Given the description of an element on the screen output the (x, y) to click on. 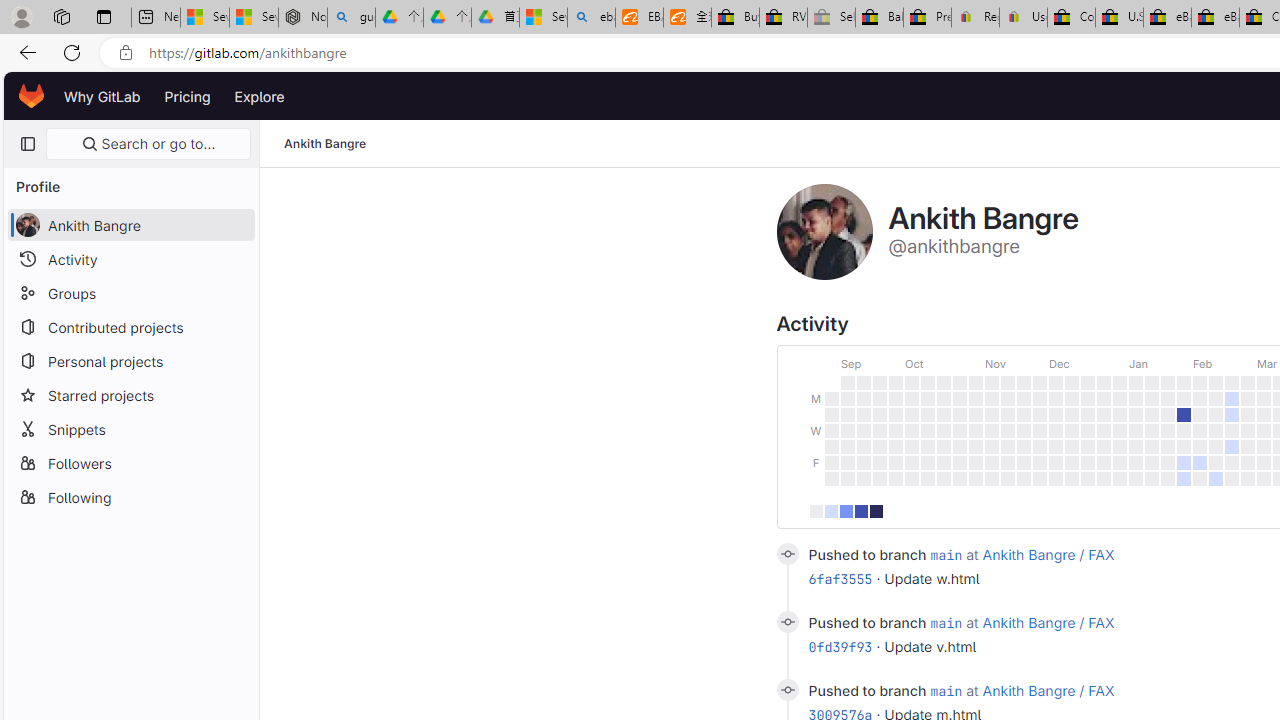
Groups (130, 292)
User profile picture (823, 232)
Starred projects (130, 394)
